Given the description of an element on the screen output the (x, y) to click on. 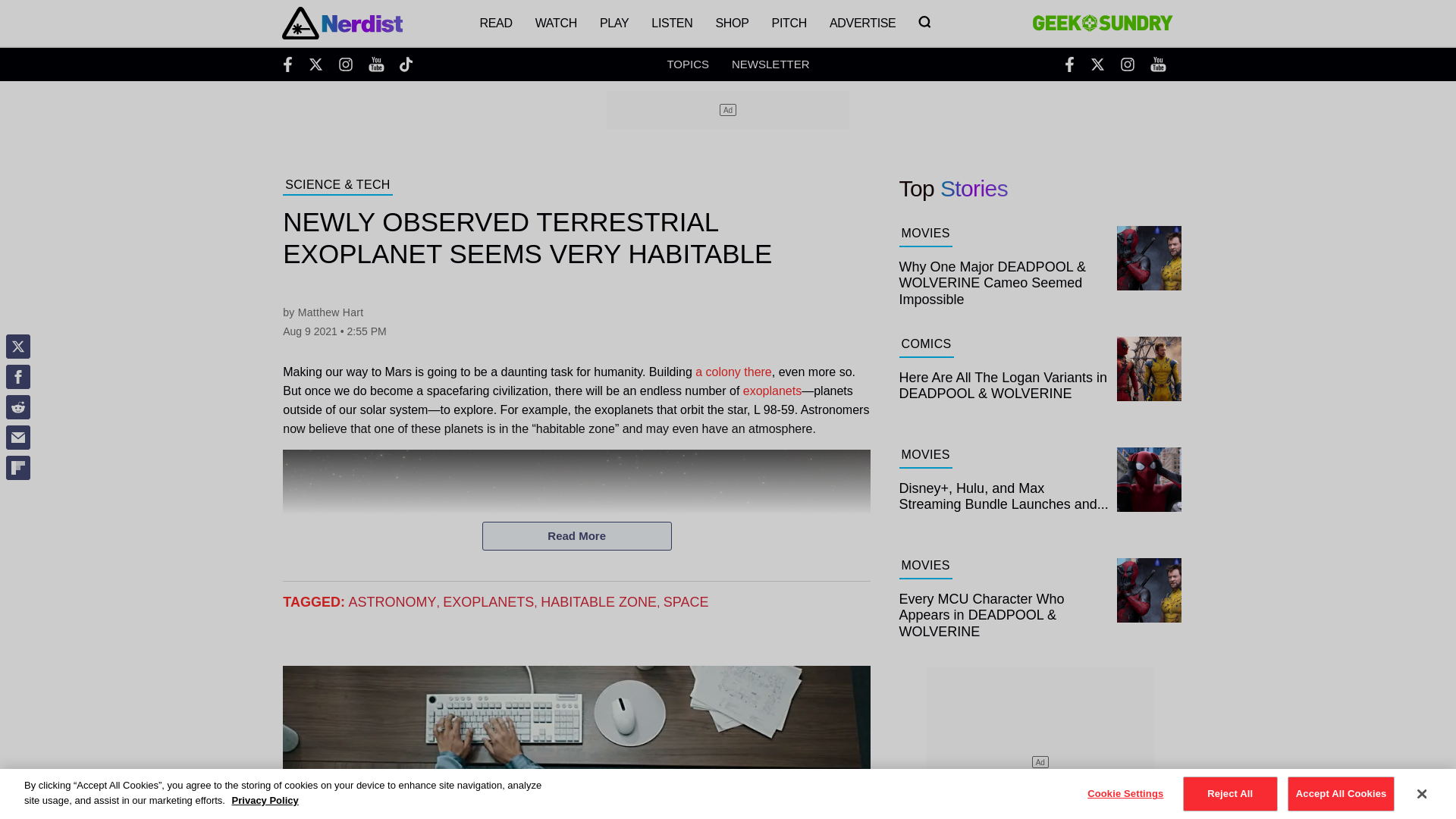
TOPICS (687, 63)
Accept All Cookies (1340, 793)
Youtube Nerdist (376, 63)
PLAY (614, 22)
EXOPLANETS (488, 601)
READ (494, 22)
Reject All (1230, 793)
Twitter Nerdist (315, 63)
PITCH (789, 22)
WATCH (556, 22)
PITCH (789, 22)
SHOP (731, 22)
Cookie Settings (1125, 793)
Twitter Geek and Sundry (1097, 63)
ADVERTISE (862, 22)
